Given the description of an element on the screen output the (x, y) to click on. 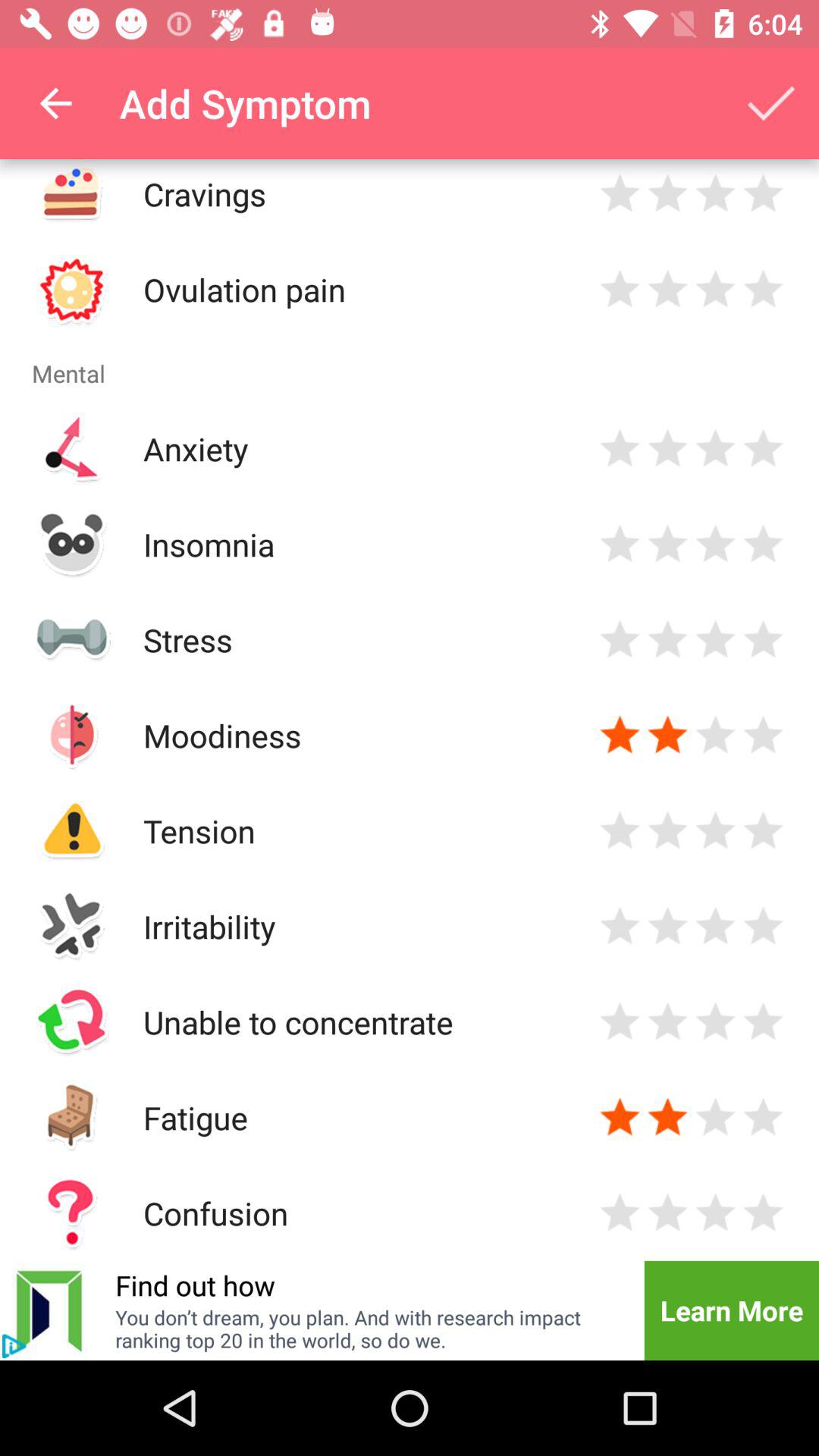
choose icon next to learn more (369, 1329)
